Given the description of an element on the screen output the (x, y) to click on. 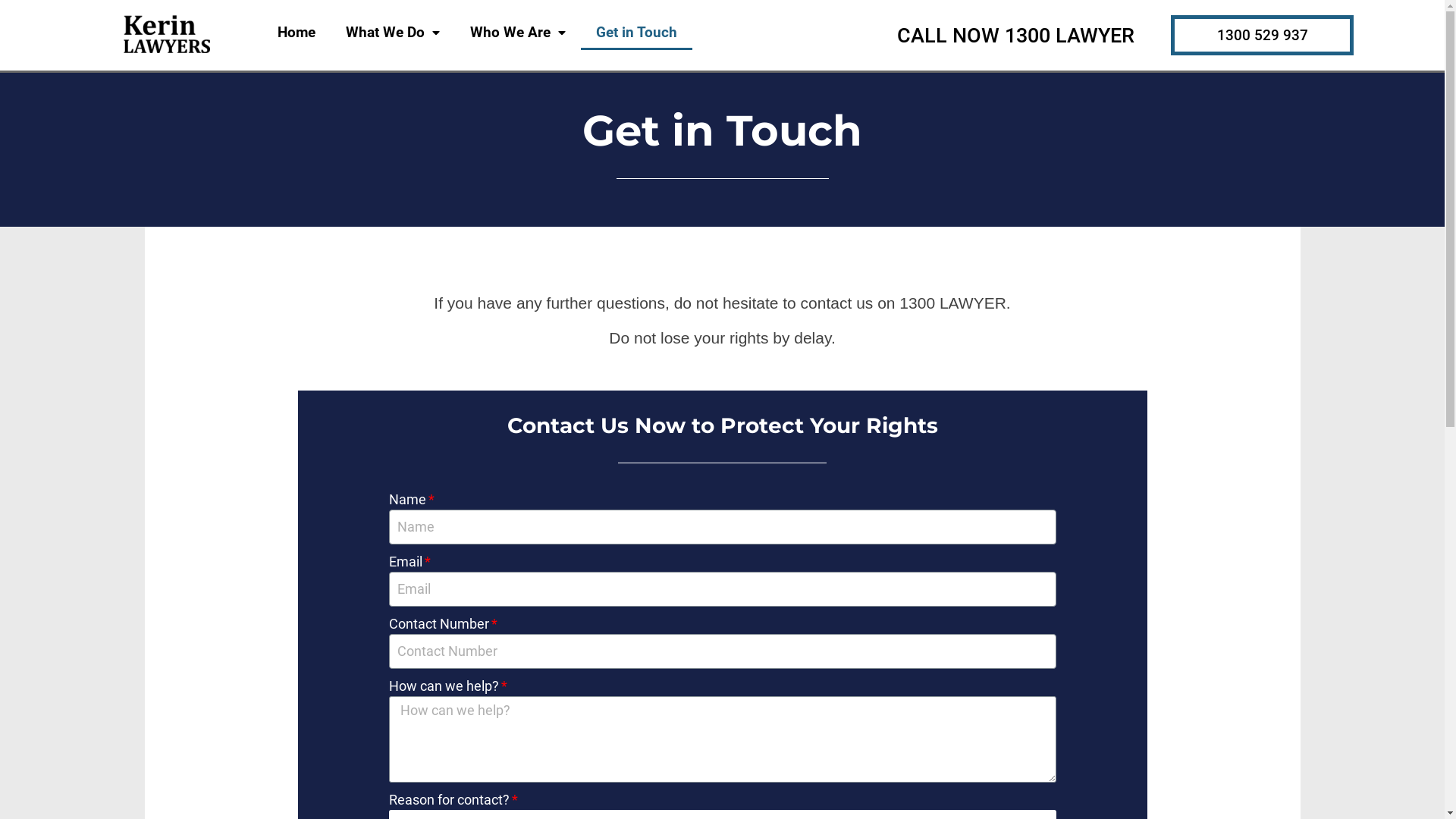
Who We Are Element type: text (517, 32)
1300 529 937 Element type: text (1262, 34)
Get in Touch Element type: text (636, 32)
Home Element type: text (296, 32)
What We Do Element type: text (392, 32)
